Given the description of an element on the screen output the (x, y) to click on. 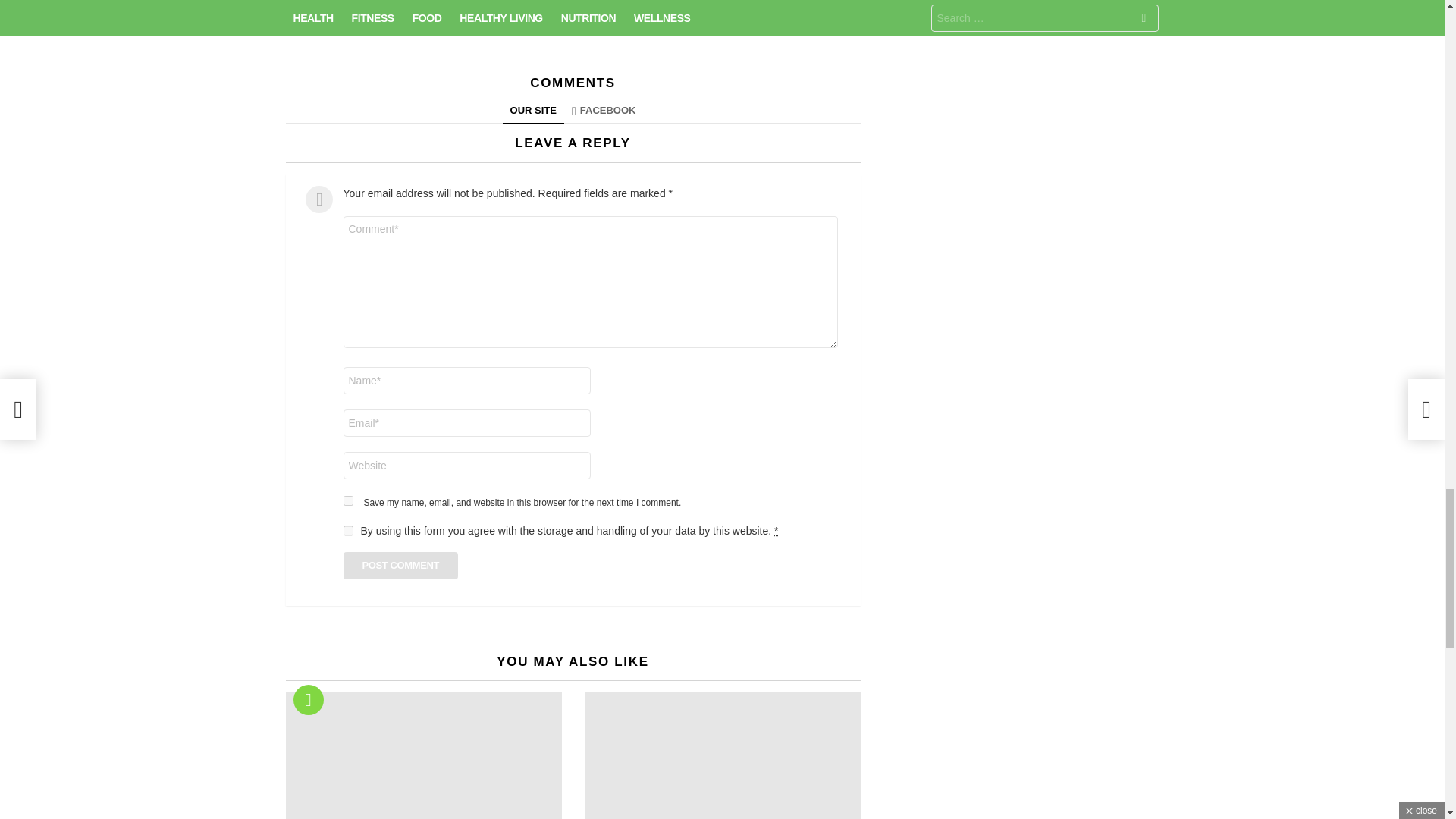
Upvote (416, 13)
Post Comment (400, 565)
OUR SITE (533, 110)
Downvote (725, 13)
Upvote (416, 13)
yes (347, 501)
FACEBOOK (603, 110)
Downvote (725, 13)
Trending (307, 699)
Ginger: The Best Anti-inflammatory Natural Remedy? (422, 755)
